Given the description of an element on the screen output the (x, y) to click on. 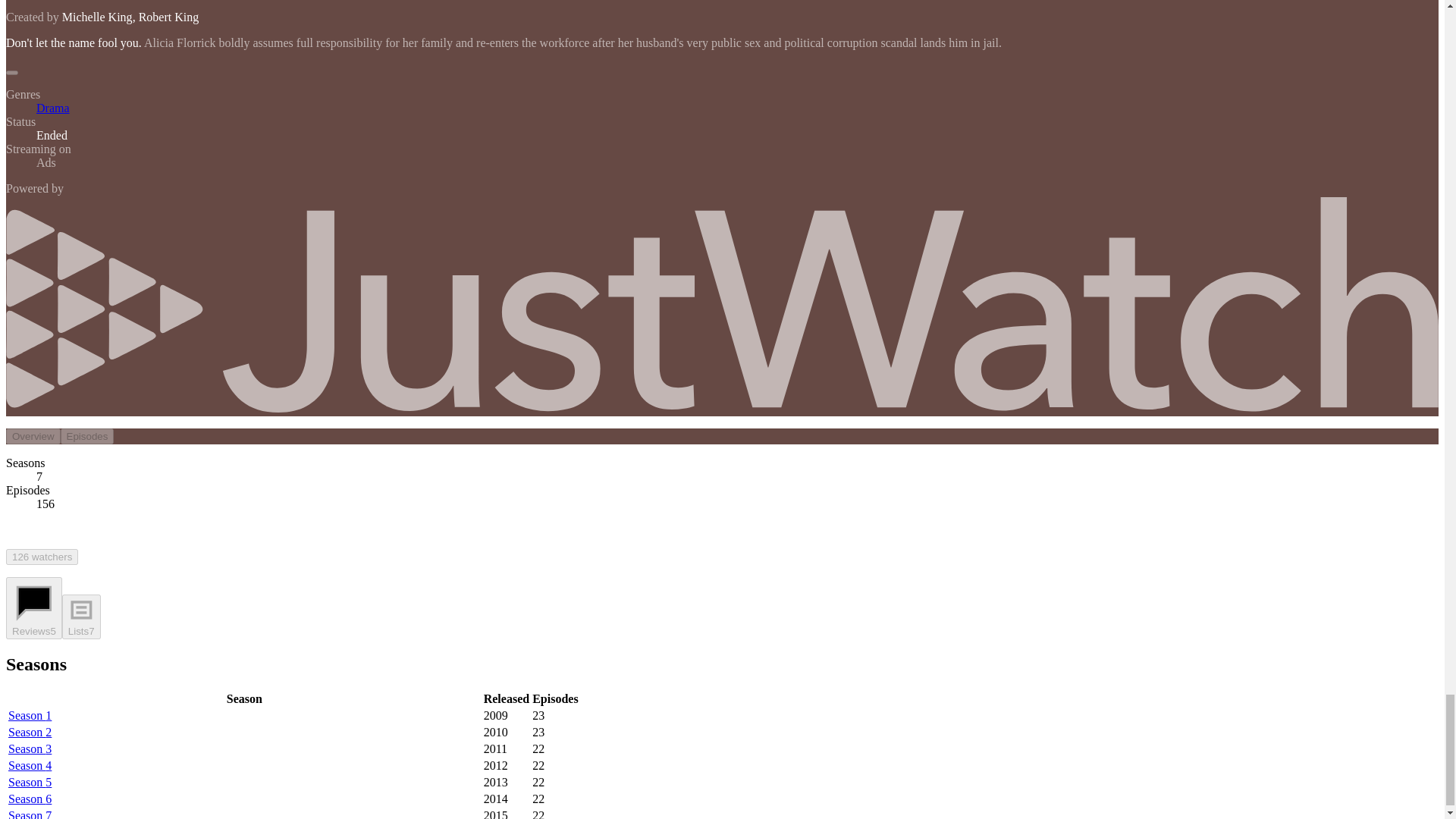
Reviews5 (33, 608)
Season 2 (29, 731)
Season 3 (29, 748)
Season 5 (29, 781)
Episodes (88, 436)
Drama (52, 107)
Season 6 (29, 798)
Season 1 (29, 715)
Season 4 (29, 765)
126 watchers (41, 556)
Overview (33, 436)
